Given the description of an element on the screen output the (x, y) to click on. 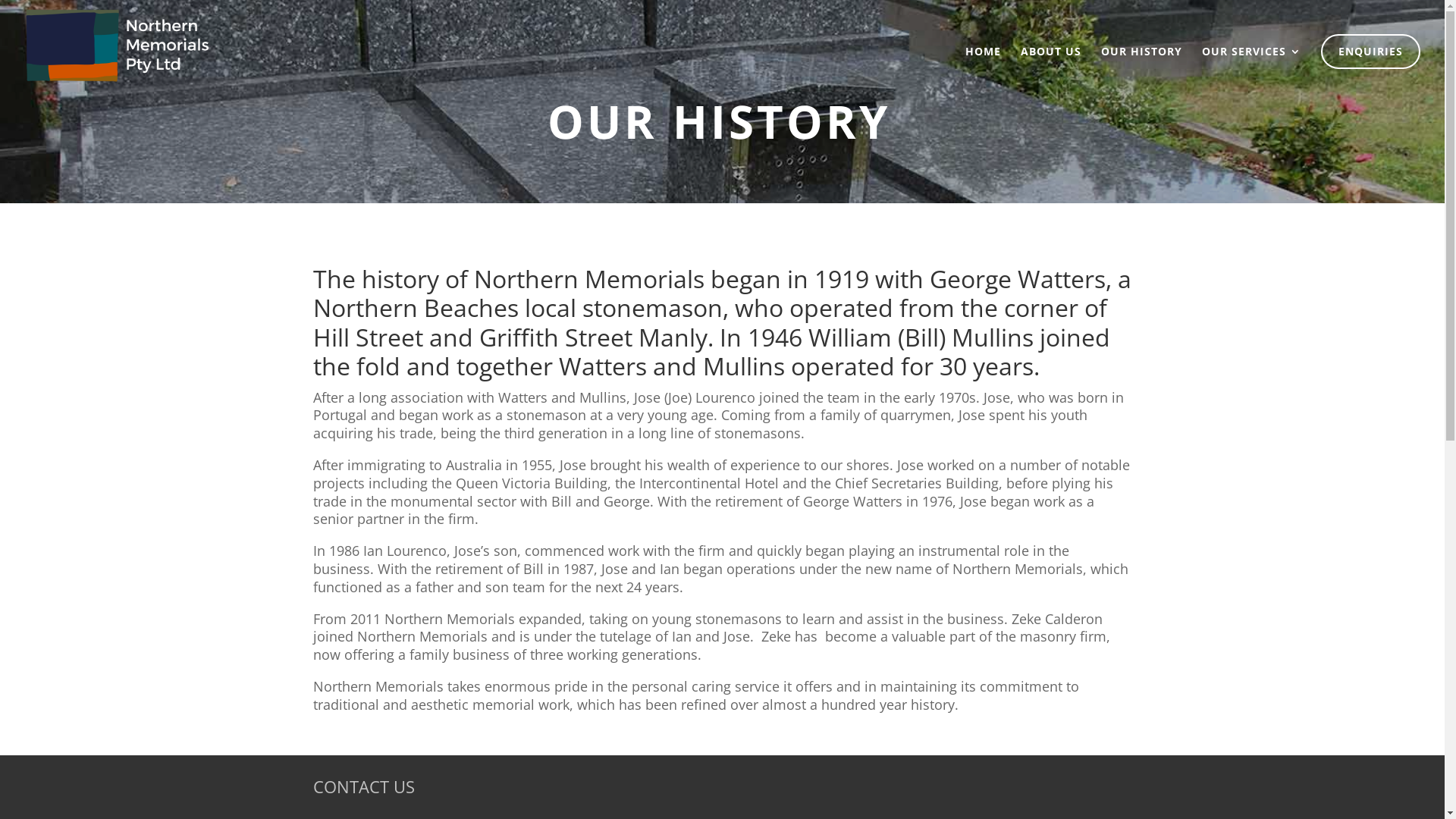
ABOUT US Element type: text (1050, 68)
HOME Element type: text (983, 68)
ENQUIRIES Element type: text (1370, 51)
OUR SERVICES Element type: text (1251, 55)
OUR HISTORY Element type: text (1141, 68)
